Given the description of an element on the screen output the (x, y) to click on. 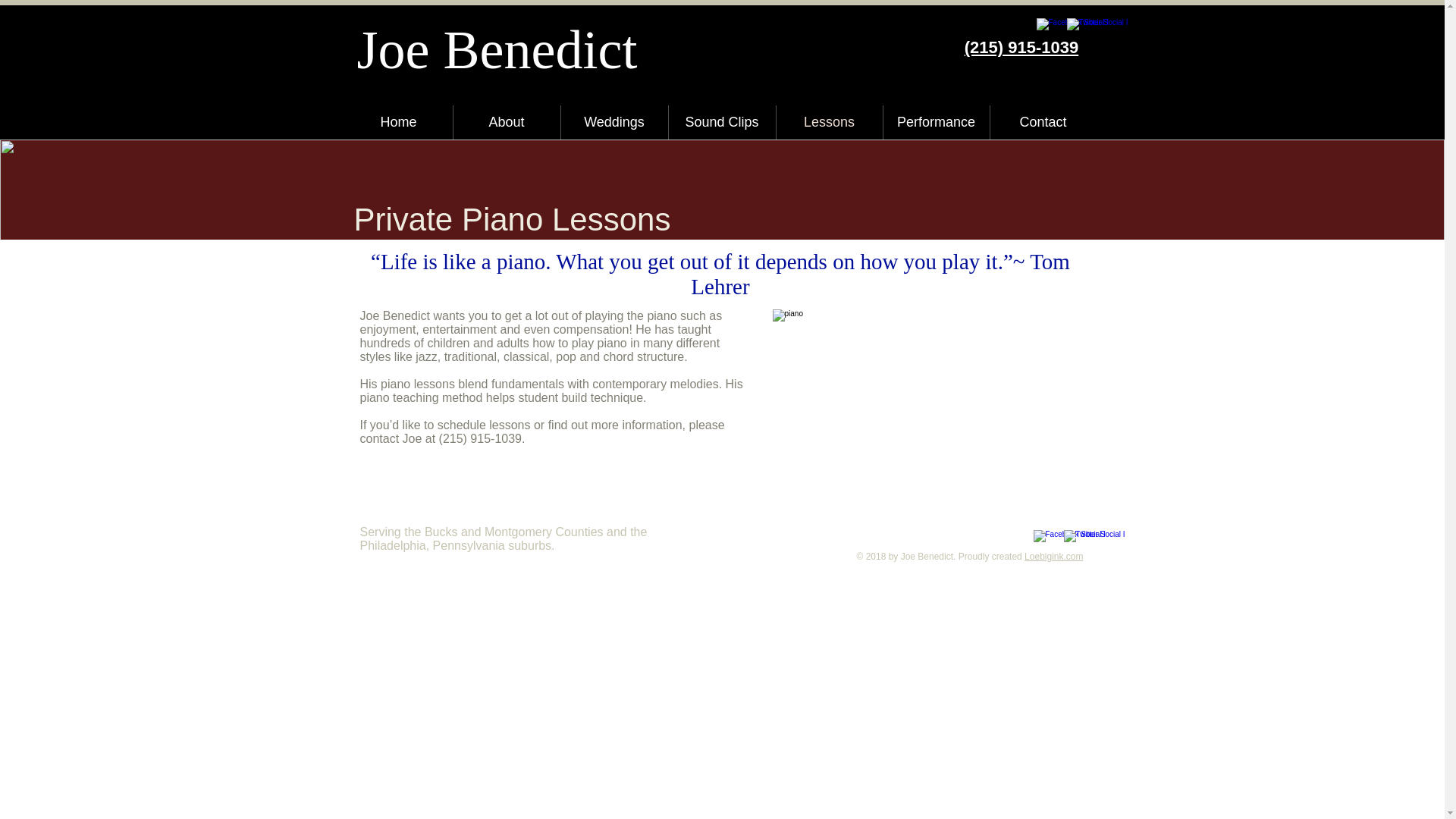
Lessons (829, 122)
Weddings (614, 122)
Sound Clips (722, 122)
About (506, 122)
Loebigink.com (1054, 556)
Home (397, 122)
Performance (935, 122)
Contact (1043, 122)
Joe Benedict (496, 49)
